Given the description of an element on the screen output the (x, y) to click on. 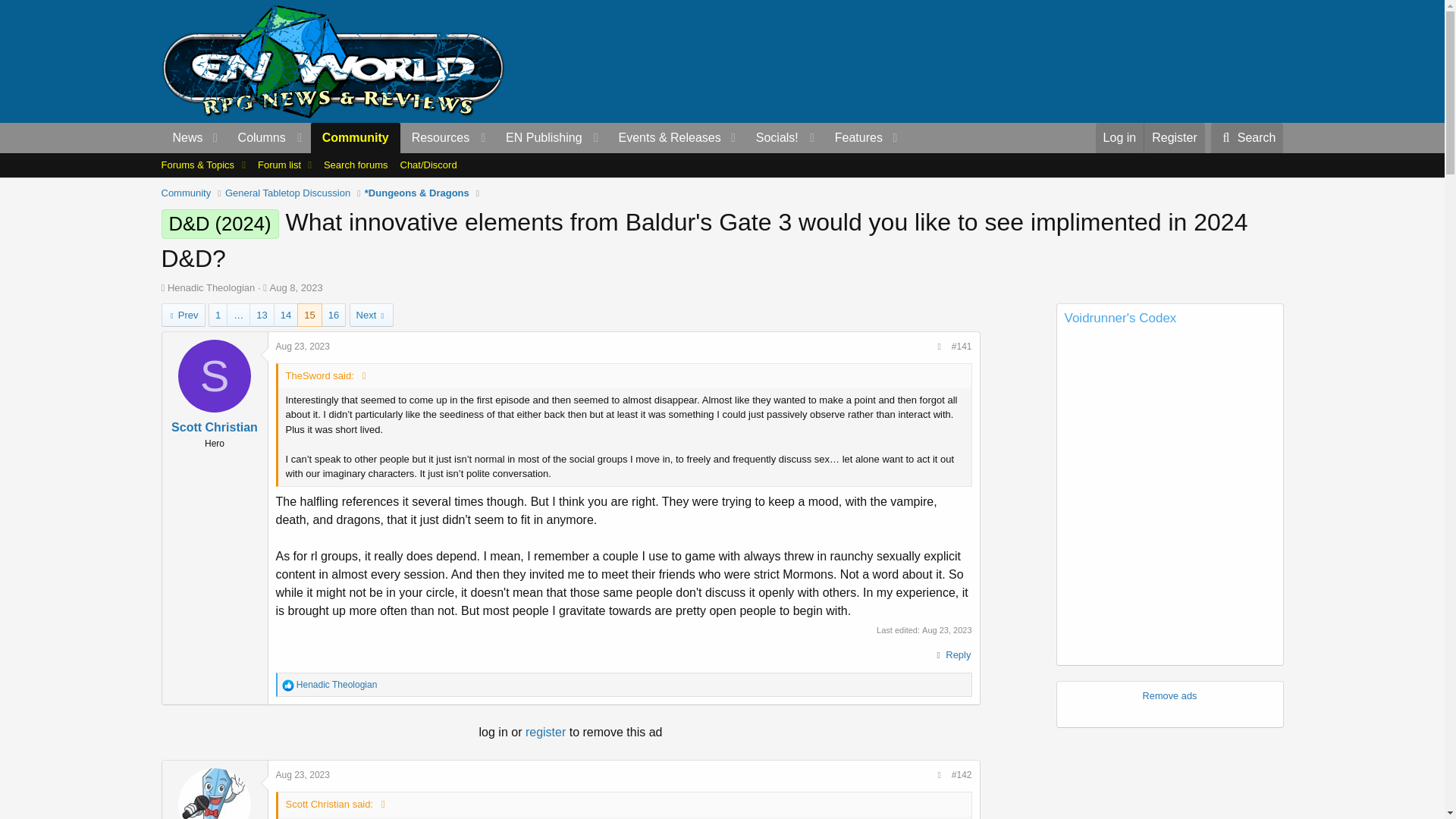
Aug 23, 2023 at 6:25 PM (946, 629)
Aug 8, 2023 at 12:21 PM (296, 287)
Aug 23, 2023 at 6:19 PM (303, 346)
Like (288, 685)
Columns (269, 137)
News (181, 137)
Aug 23, 2023 at 6:24 PM (303, 774)
Community (355, 137)
3rd party ad content (1006, 61)
Search (1247, 137)
